Given the description of an element on the screen output the (x, y) to click on. 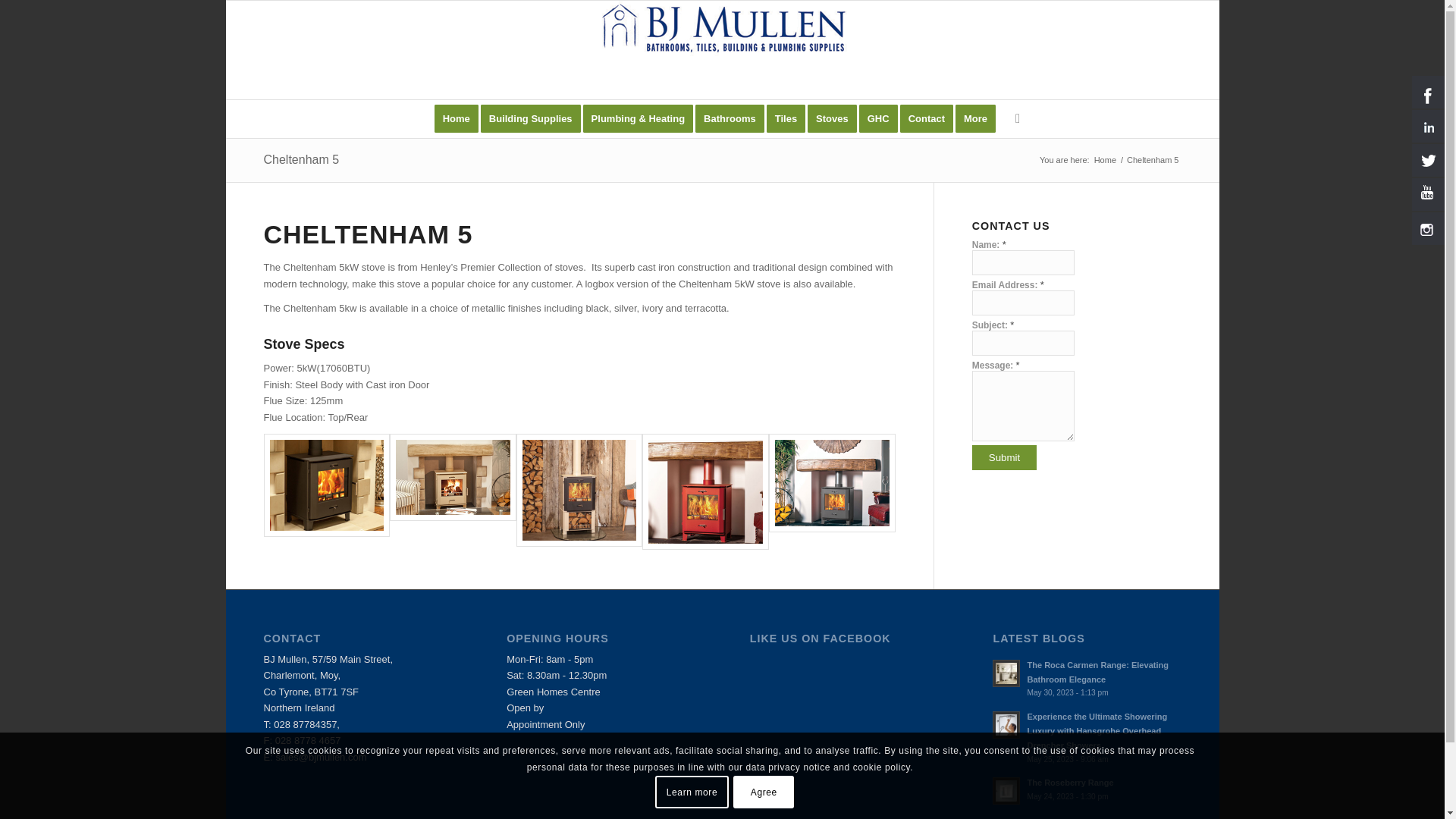
Home (456, 118)
cheltenhamivory (453, 491)
cheltenhamlogbox (579, 491)
cheltenhamivory (453, 477)
Building Supplies (535, 118)
cheltenhamterracotta (705, 491)
cheltenhamblack (326, 485)
cheltenhamblack (326, 491)
cheltenhamlogbox (579, 490)
Bathrooms (734, 118)
bjm-logo (721, 49)
Permanent Link: Cheltenham 5 (301, 159)
bjm-logo (721, 28)
